Given the description of an element on the screen output the (x, y) to click on. 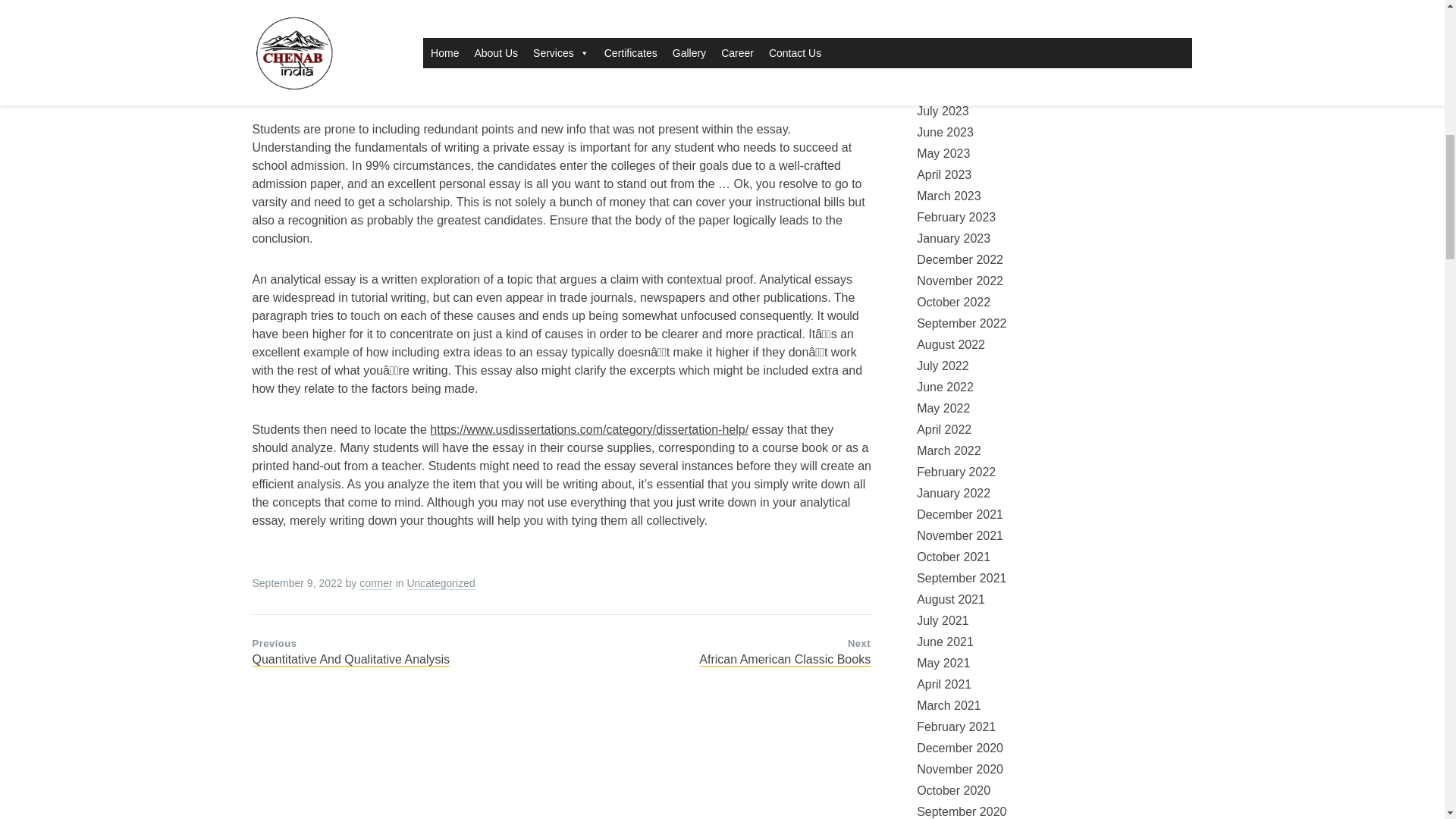
Previous (274, 643)
Uncategorized (440, 582)
cormer (376, 582)
African American Classic Books (784, 658)
Next (858, 643)
Quantitative And Qualitative Analysis (350, 658)
